Given the description of an element on the screen output the (x, y) to click on. 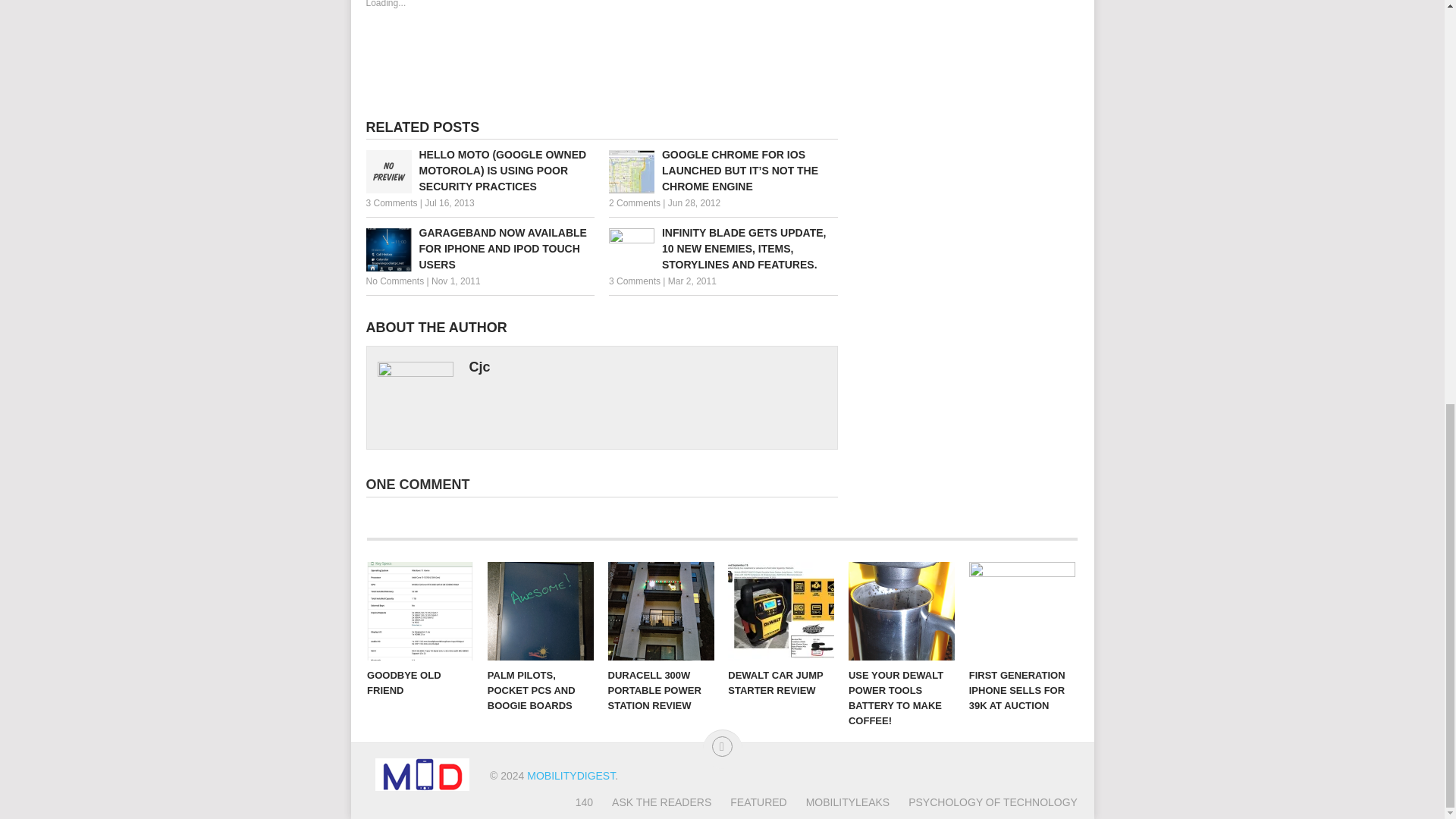
DURACELL 300W PORTABLE POWER STATION REVIEW (661, 610)
2 Comments (634, 203)
GarageBand Now Available for iPhone and iPod touch Users (479, 248)
USE YOUR DEWALT POWER TOOLS BATTERY TO MAKE COFFEE! (901, 610)
3 Comments (634, 281)
GOODBYE OLD FRIEND (419, 610)
DEWALT CAR JUMP STARTER REVIEW (781, 610)
No Comments (394, 281)
3 Comments (390, 203)
FIRST GENERATION IPHONE SELLS FOR 39K AT AUCTION (1022, 610)
PALM PILOTS, POCKET PCS AND BOOGIE BOARDS (540, 610)
GARAGEBAND NOW AVAILABLE FOR IPHONE AND IPOD TOUCH USERS (479, 248)
